Given the description of an element on the screen output the (x, y) to click on. 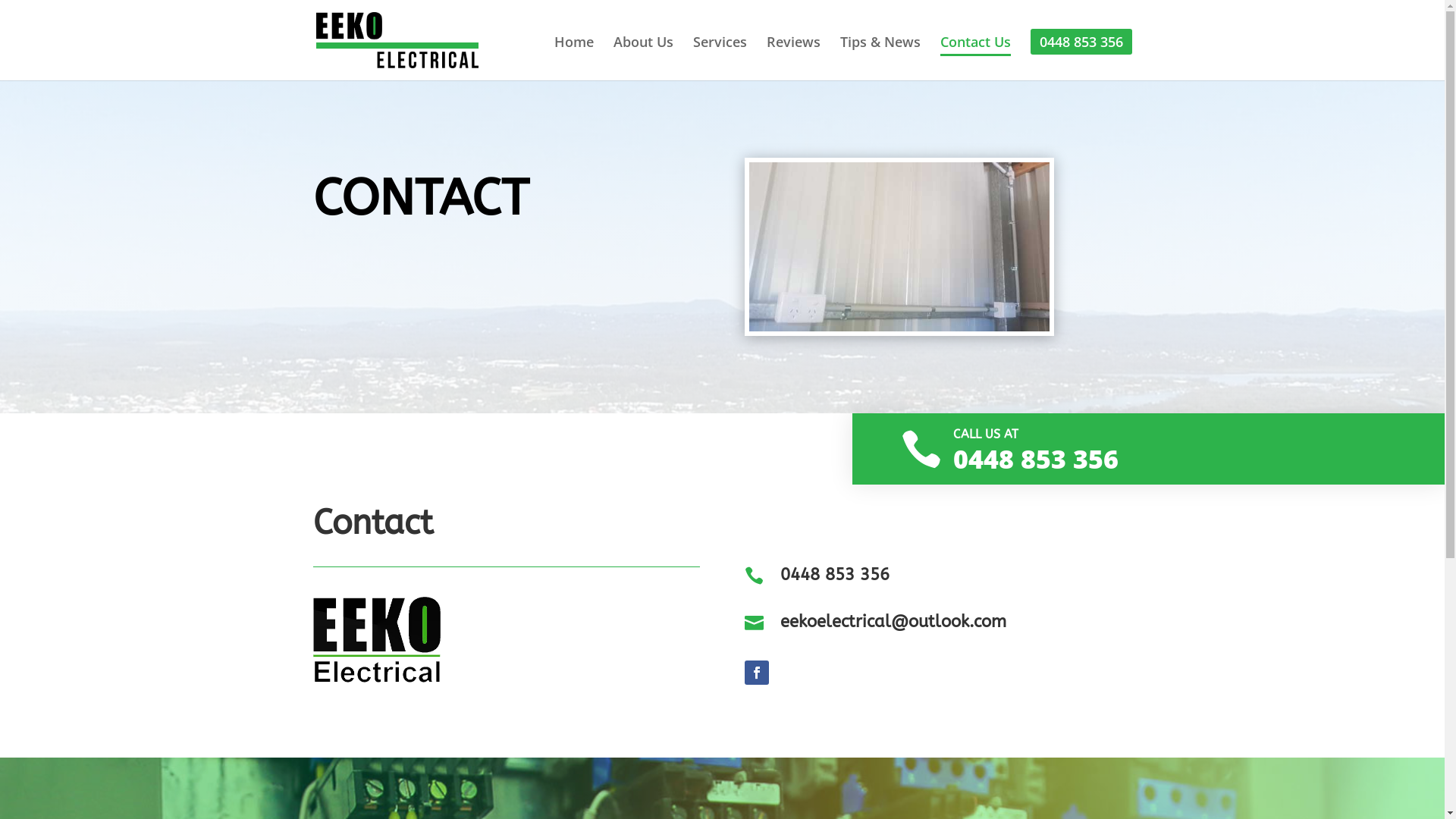
About Us Element type: text (642, 55)
Services Element type: text (719, 55)
0448 853 356 Element type: text (1080, 41)
Follow on Facebook Element type: hover (756, 672)
Reviews Element type: text (792, 55)
Tips & News Element type: text (880, 55)
0448 853 356 Element type: text (834, 574)
Contact Us Element type: text (975, 55)
eekoelectrical@outlook.com Element type: text (893, 621)
Home Element type: text (573, 55)
